Given the description of an element on the screen output the (x, y) to click on. 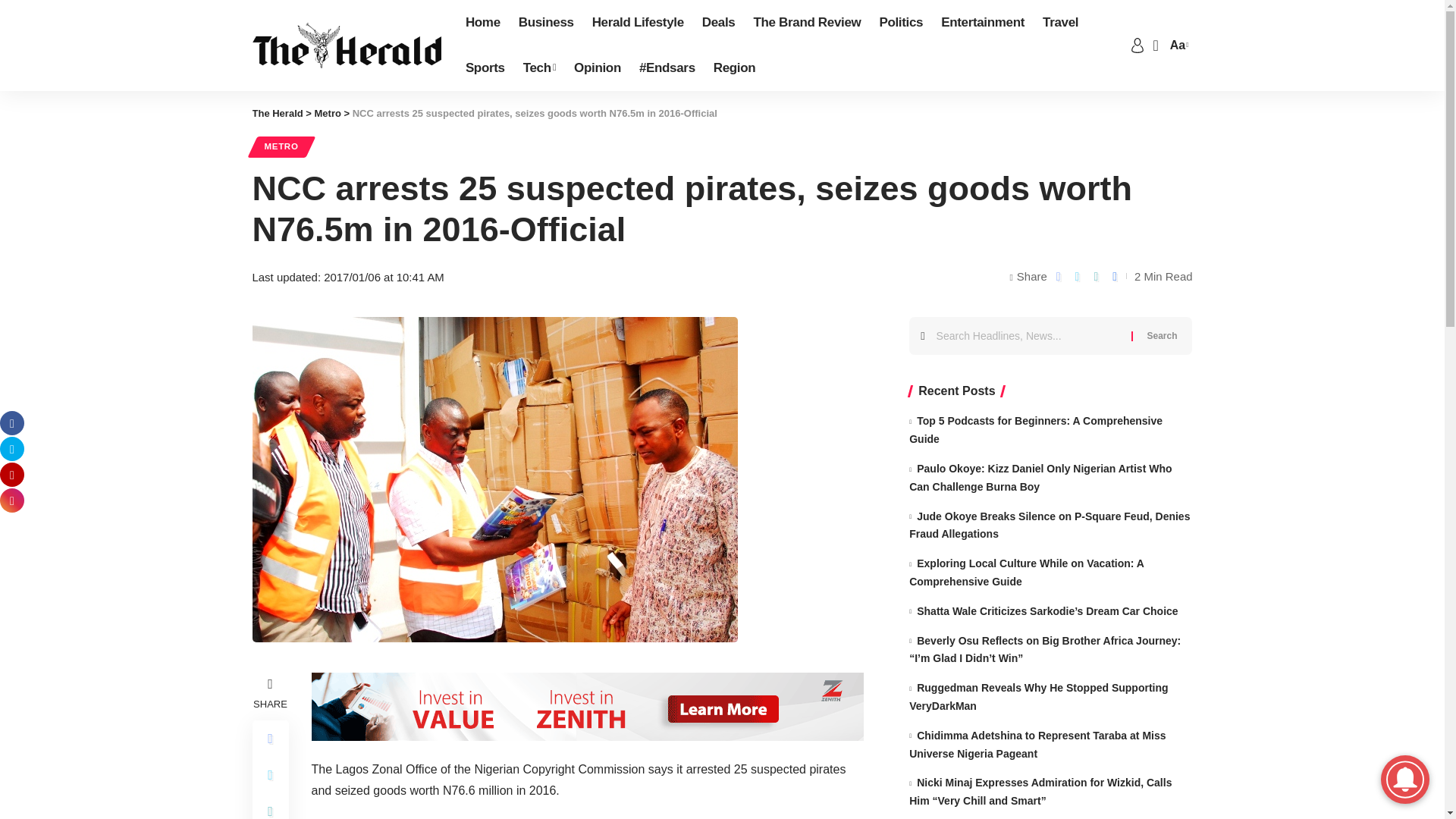
Entertainment (982, 22)
Opinion (597, 67)
Business (546, 22)
Travel (1060, 22)
Herald Lifestyle (638, 22)
Tech (538, 67)
Home (483, 22)
The Herald (346, 44)
The Brand Review (806, 22)
Aa (1177, 45)
